Given the description of an element on the screen output the (x, y) to click on. 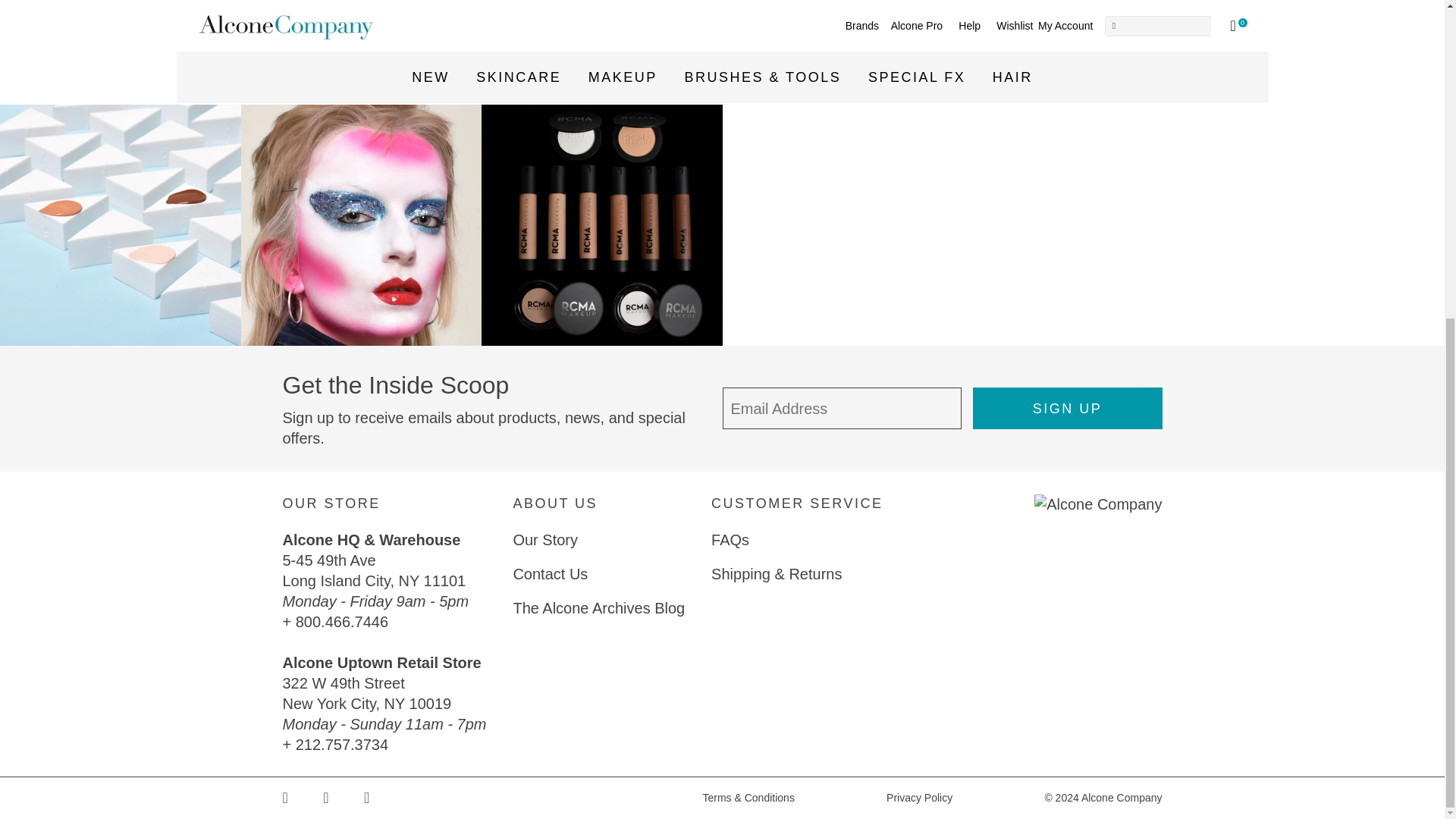
Alcone Company on Pinterest (343, 797)
Alcone Company on Facebook (302, 797)
Alcone Company on Instagram (384, 797)
